Given the description of an element on the screen output the (x, y) to click on. 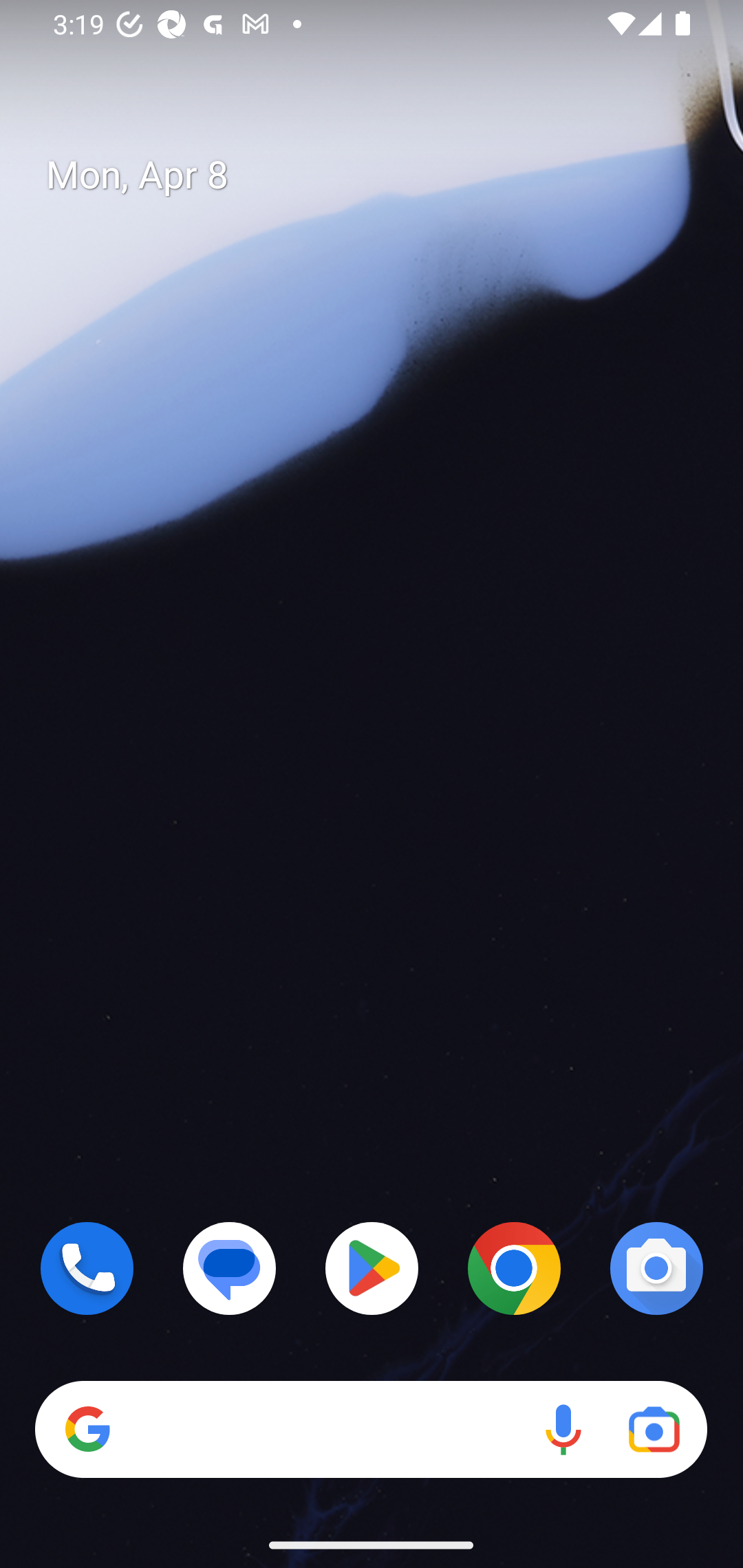
Mon, Apr 8 (386, 175)
Phone (86, 1268)
Messages (229, 1268)
Play Store (371, 1268)
Chrome (513, 1268)
Camera (656, 1268)
Search Voice search Google Lens (370, 1429)
Voice search (562, 1429)
Google Lens (653, 1429)
